Given the description of an element on the screen output the (x, y) to click on. 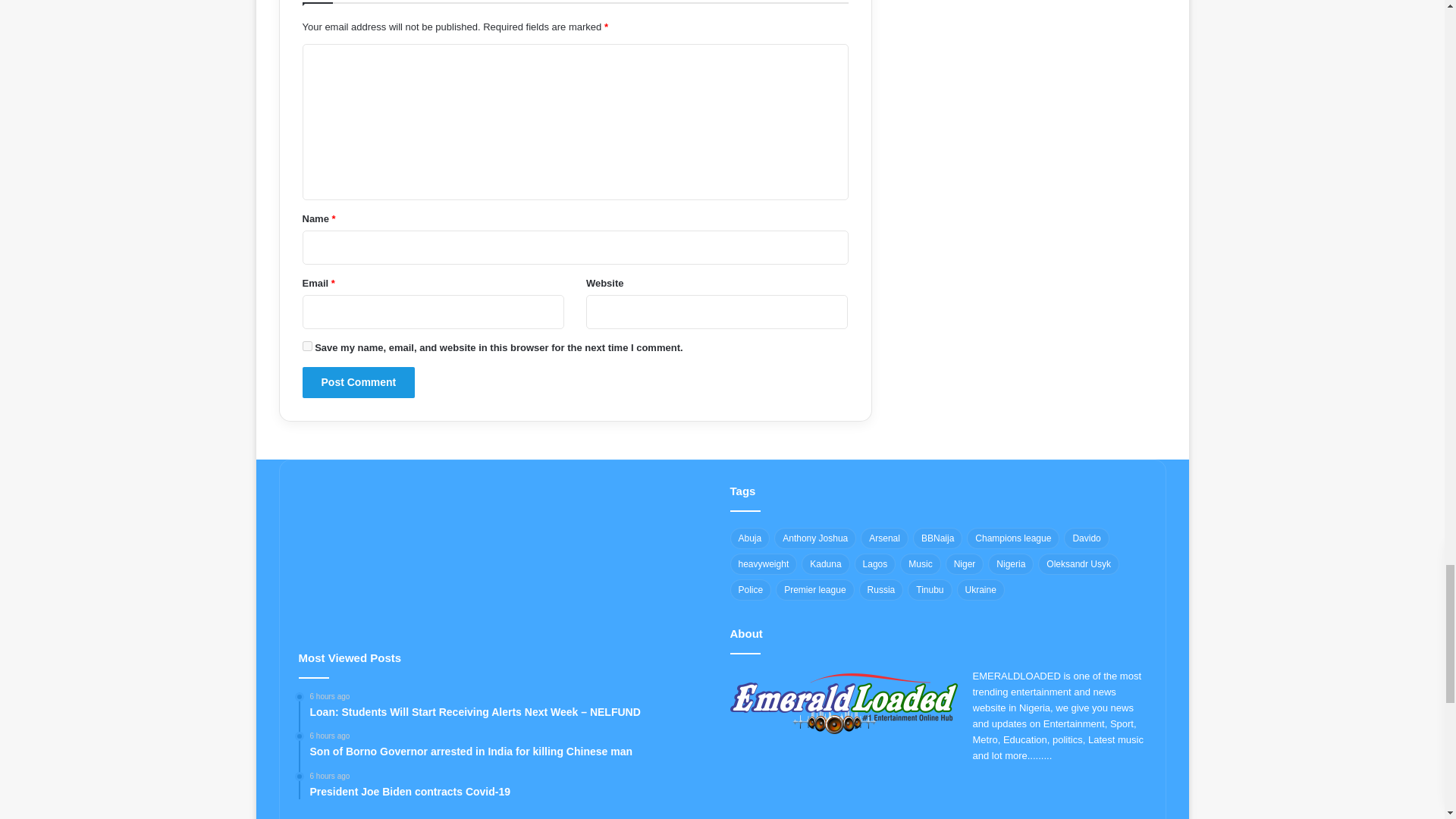
yes (306, 346)
Post Comment (357, 382)
